Given the description of an element on the screen output the (x, y) to click on. 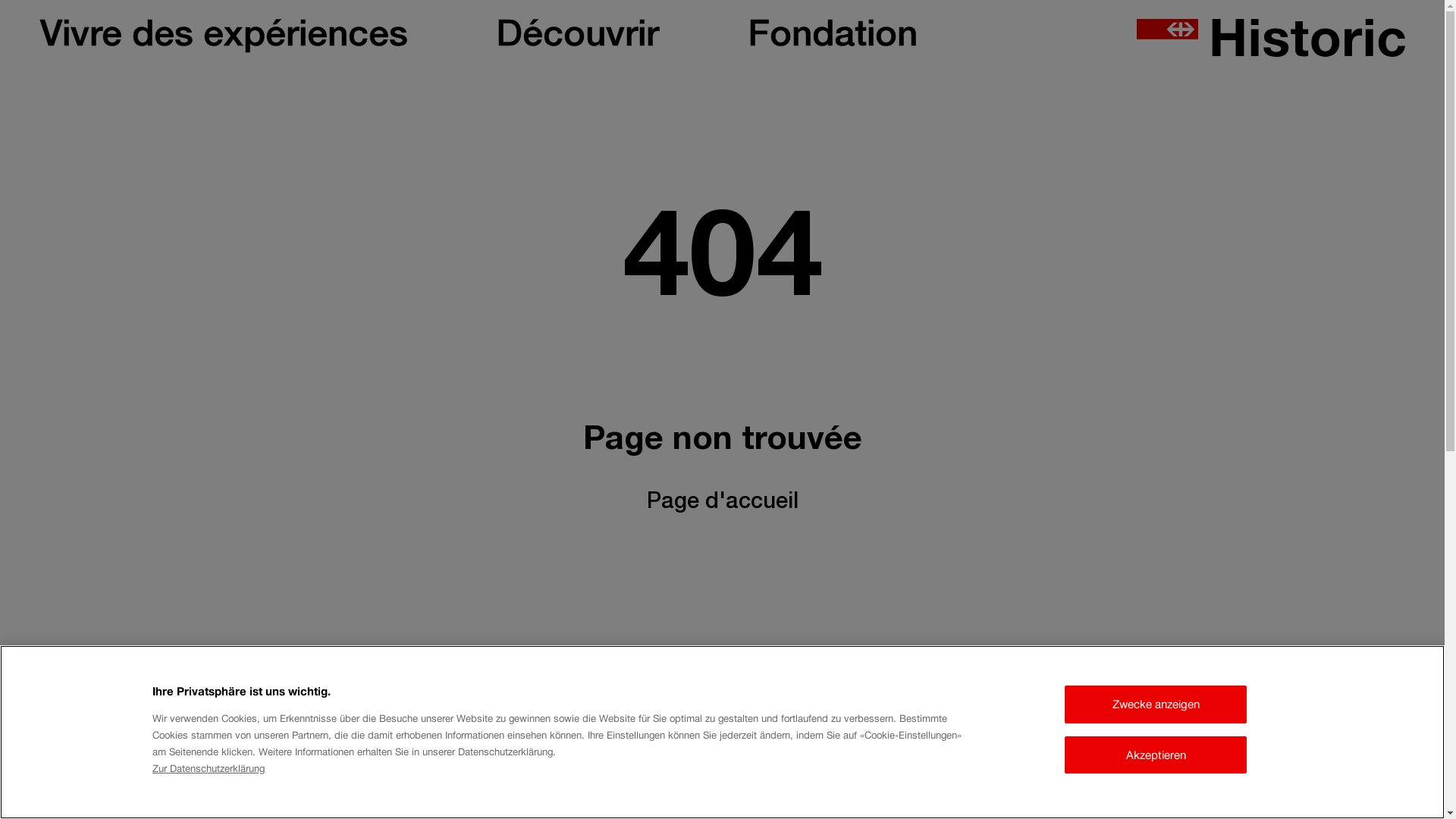
Fondation Element type: text (832, 37)
Zwecke anzeigen Element type: text (1155, 704)
Page d'accueil Element type: text (721, 503)
Akzeptieren Element type: text (1155, 754)
